Given the description of an element on the screen output the (x, y) to click on. 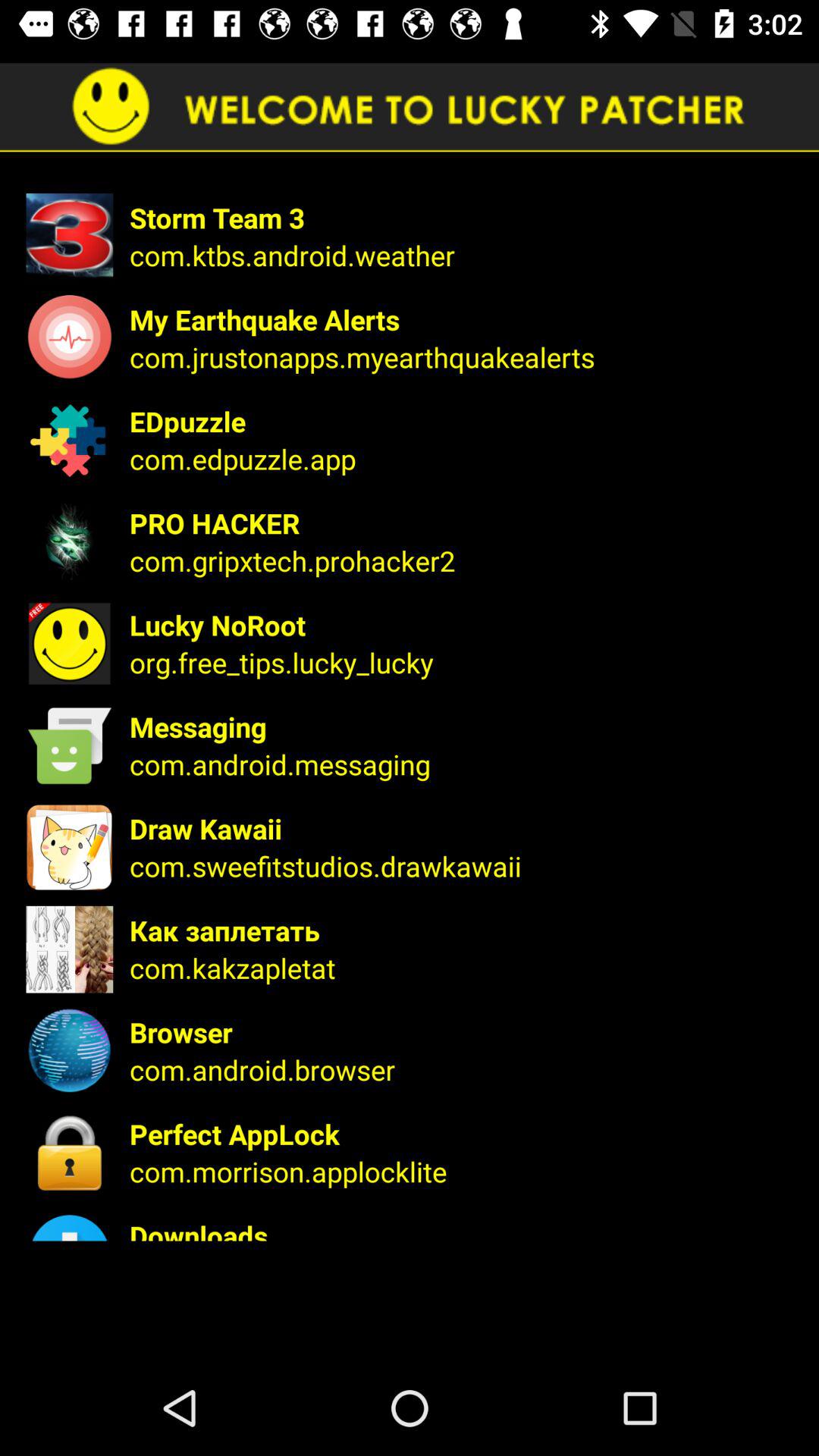
click the icon above com.morrison.applocklite item (464, 1133)
